Given the description of an element on the screen output the (x, y) to click on. 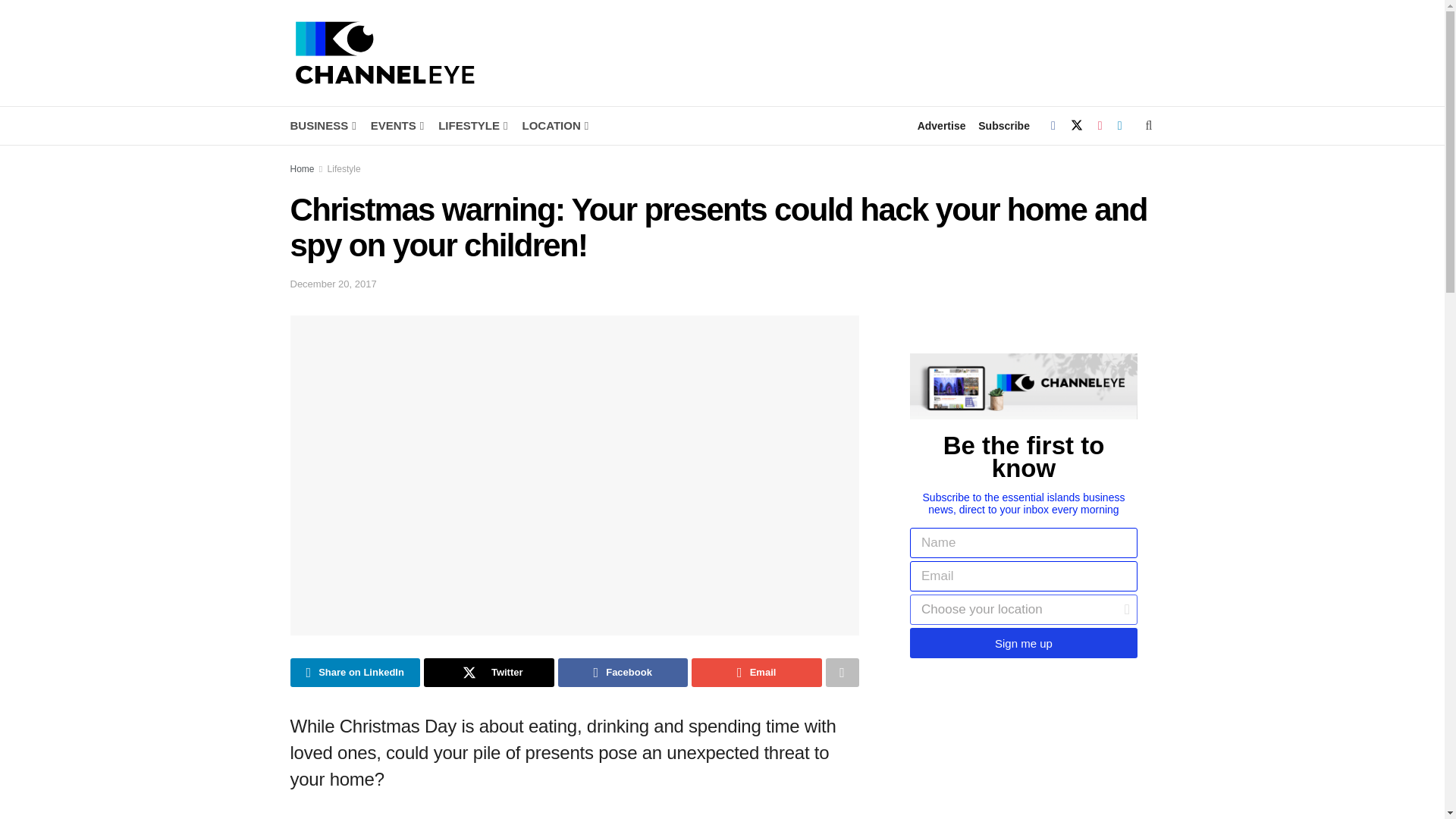
EVENTS (396, 125)
Subscribe (1003, 125)
LIFESTYLE (471, 125)
Advertise (941, 125)
LOCATION (553, 125)
BUSINESS (321, 125)
